Given the description of an element on the screen output the (x, y) to click on. 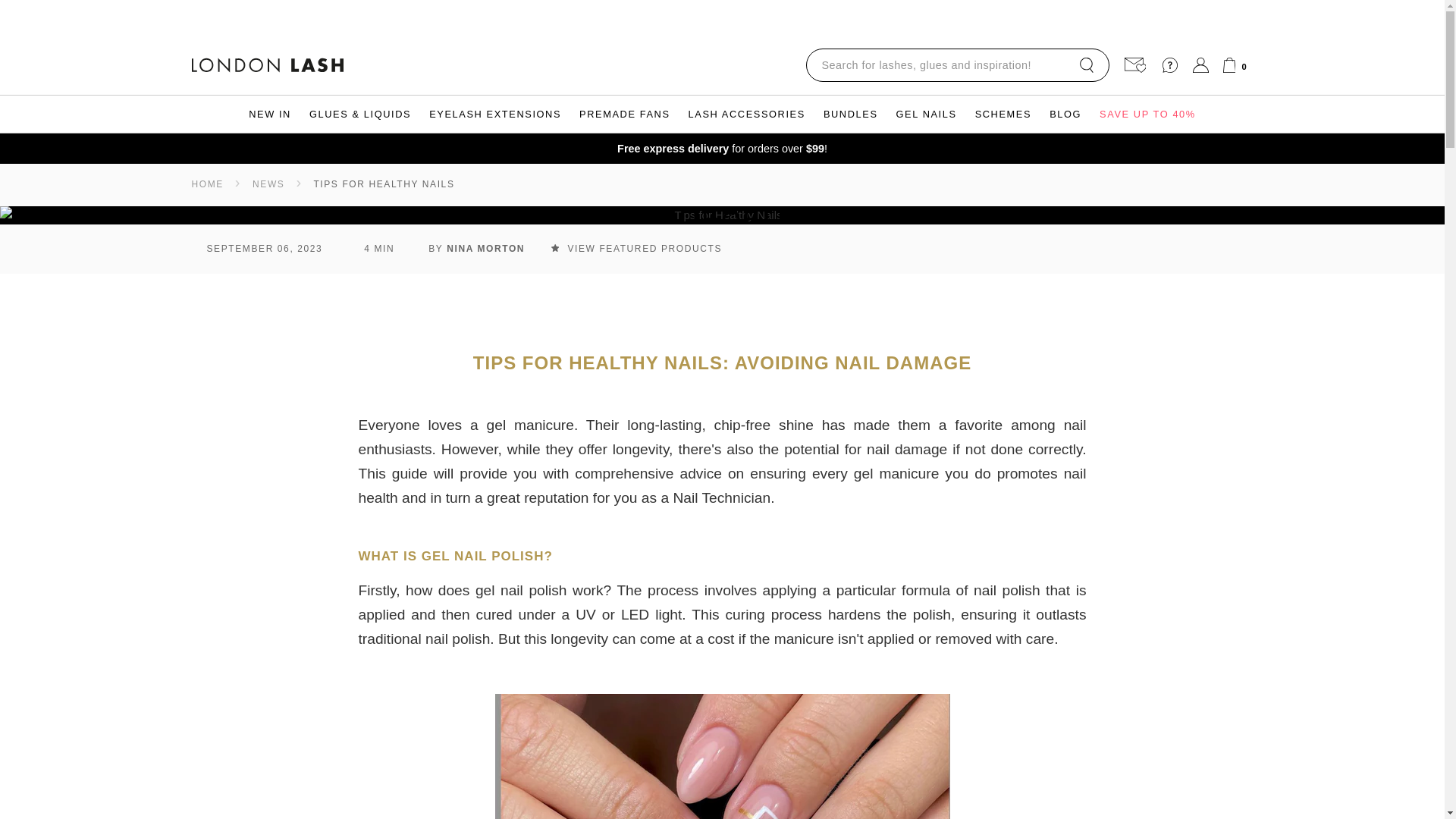
PREMADE FANS (624, 114)
BUNDLES (849, 114)
LASH ACCESSORIES (746, 114)
GEL NAILS (926, 114)
LOGIN (1199, 64)
Subscribe to our newsletter (1131, 64)
London Lash US (266, 66)
EYELASH EXTENSIONS (495, 114)
NEW IN (269, 114)
BLOG (1065, 114)
